Given the description of an element on the screen output the (x, y) to click on. 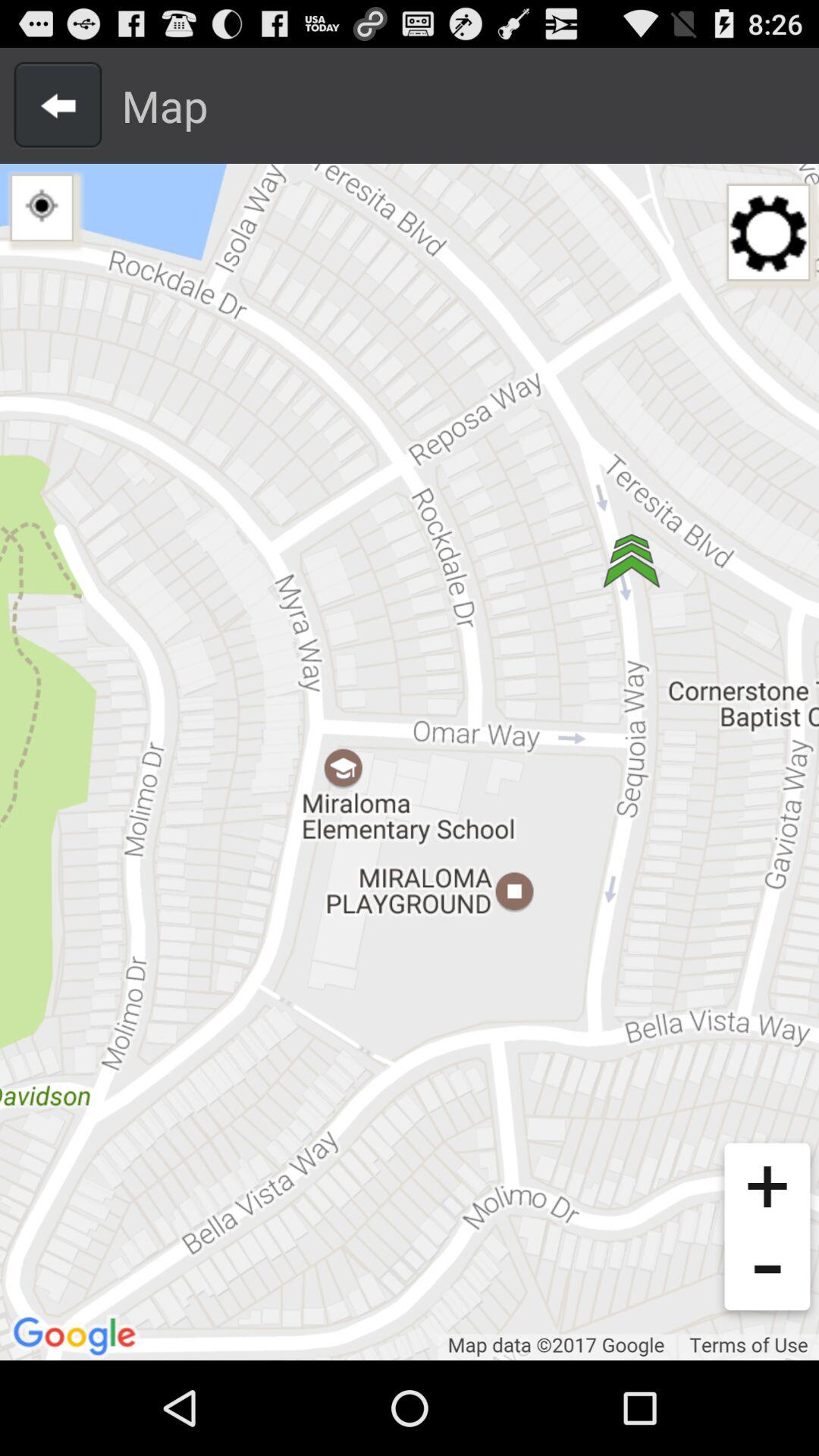
arrow button (57, 105)
